Given the description of an element on the screen output the (x, y) to click on. 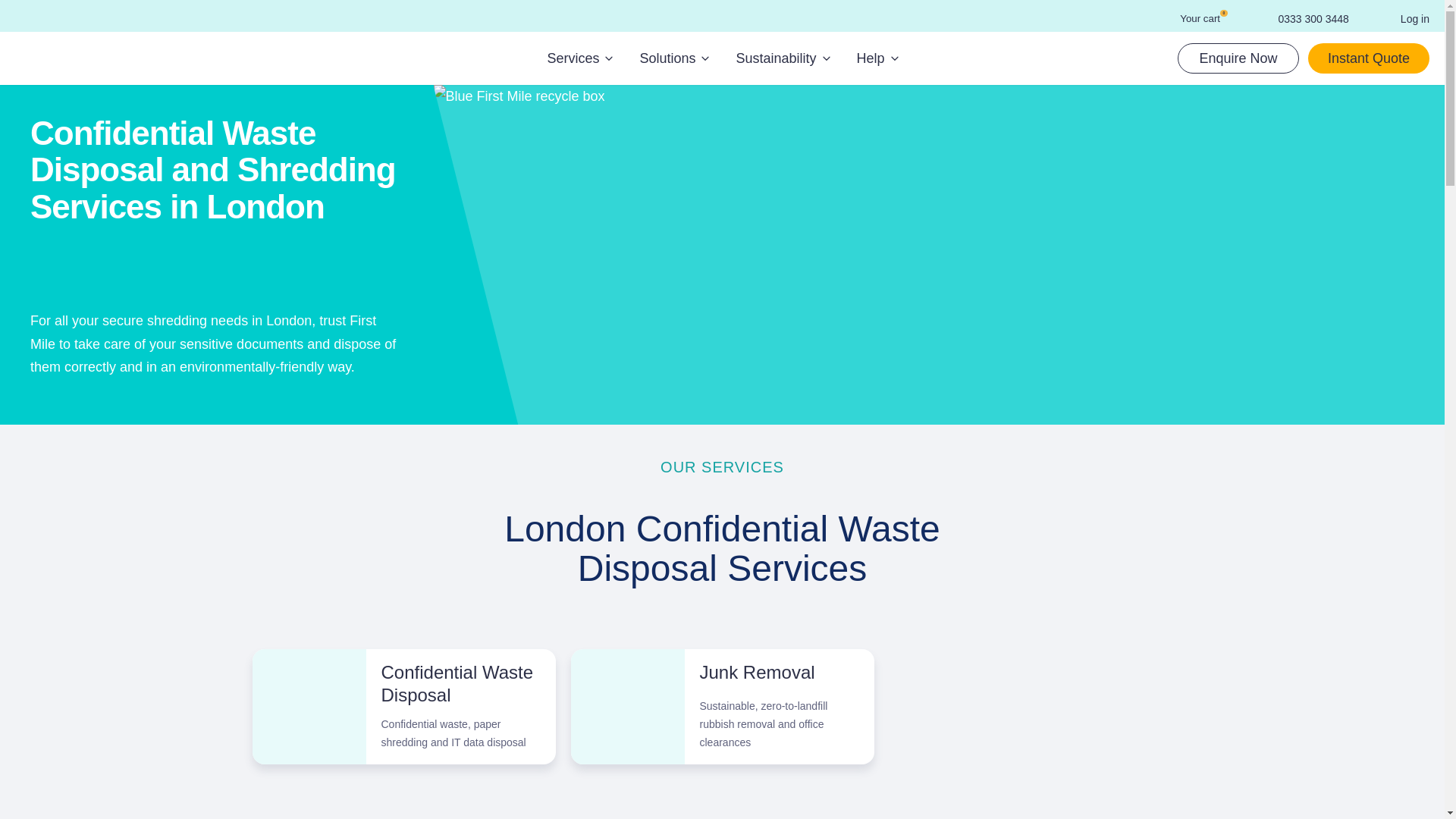
Help (877, 58)
Sustainability (782, 58)
Log in (1403, 18)
Solutions (673, 58)
Enquire Now (1237, 58)
0333 300 3448 (1302, 18)
Services (579, 58)
Instant Quote (1191, 18)
